Given the description of an element on the screen output the (x, y) to click on. 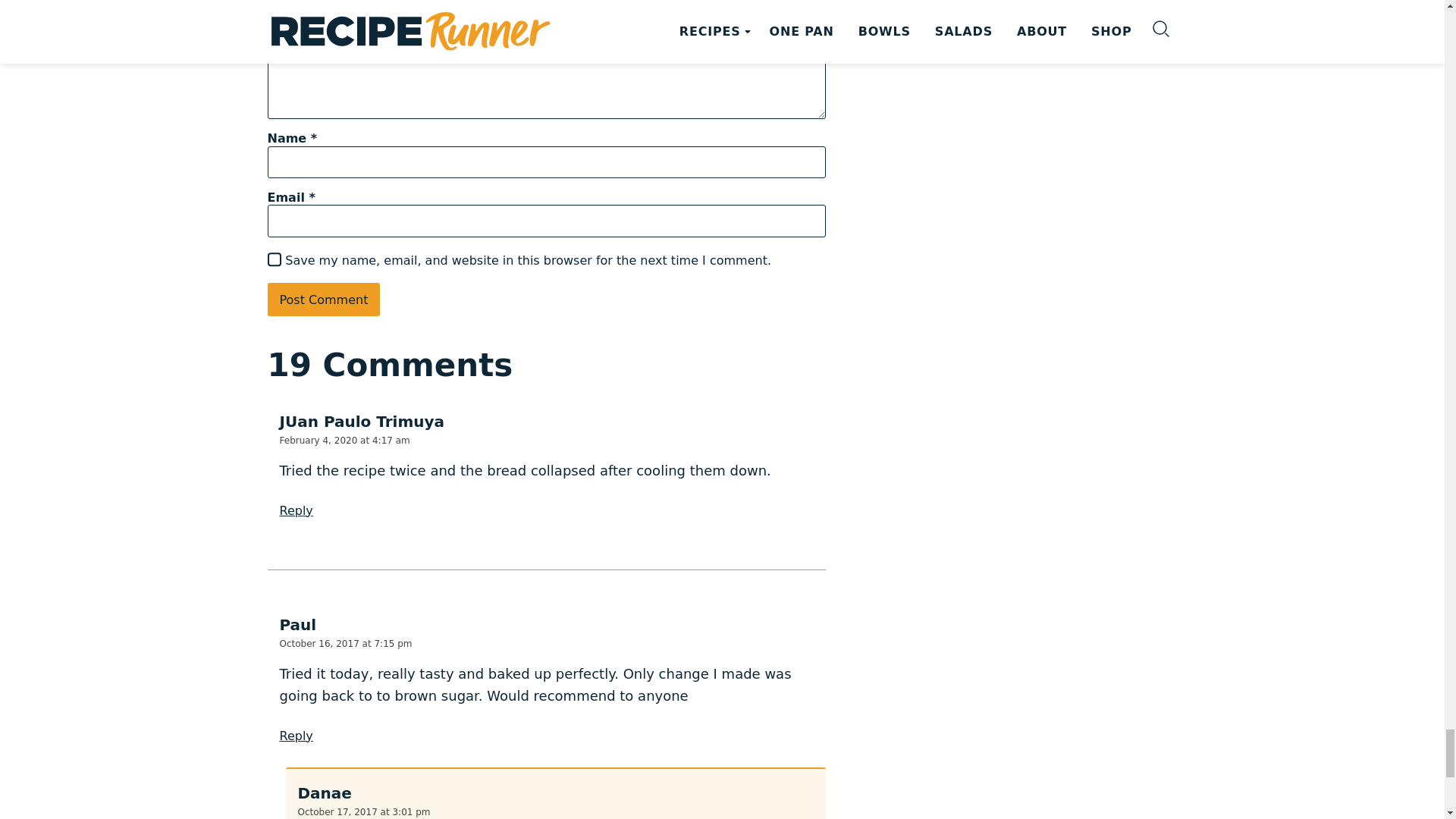
yes (273, 259)
Post Comment (323, 299)
